Given the description of an element on the screen output the (x, y) to click on. 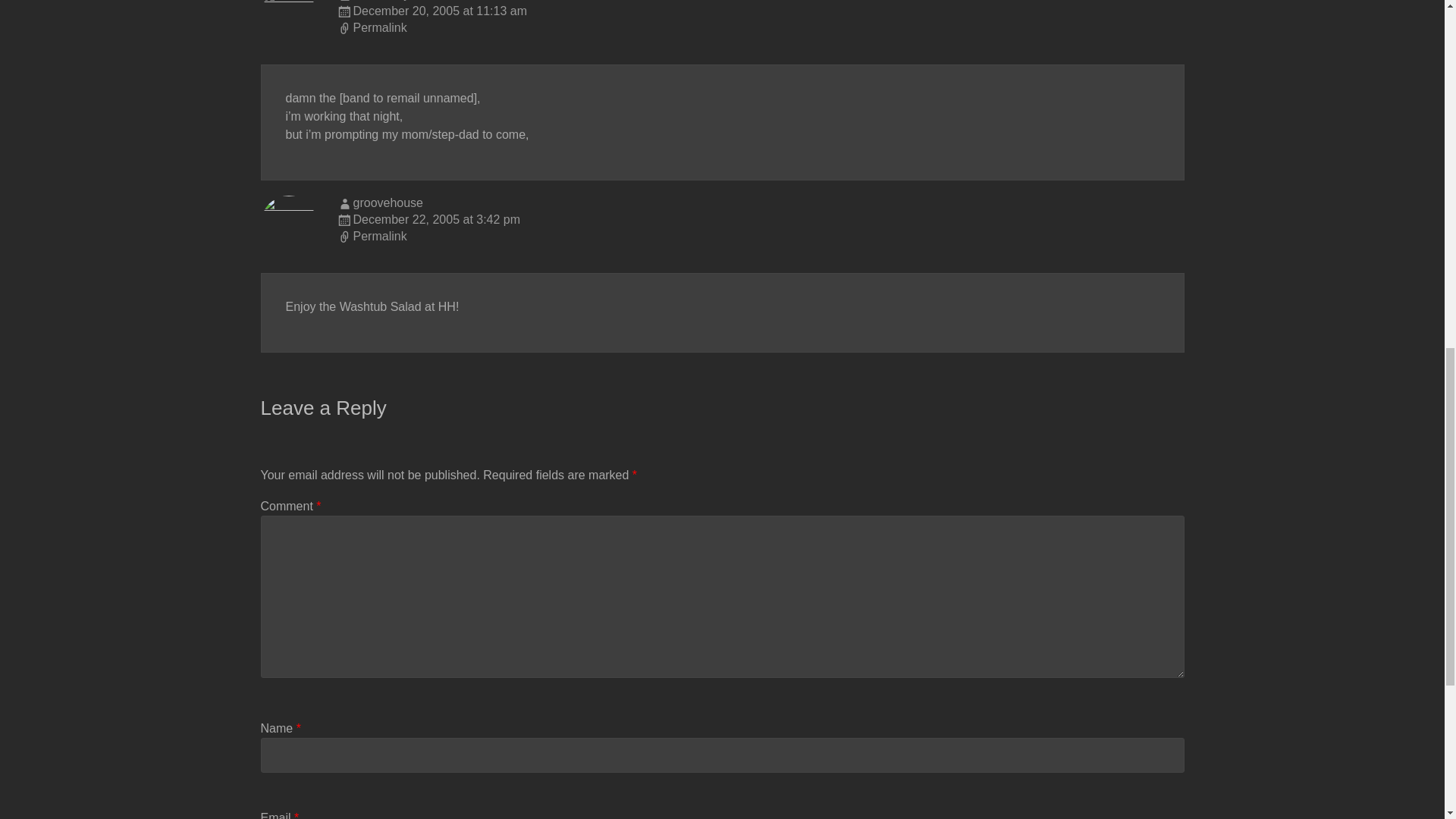
Bill Shirley (381, 0)
Permalink (760, 237)
Permalink (760, 28)
groovehouse (388, 202)
